Given the description of an element on the screen output the (x, y) to click on. 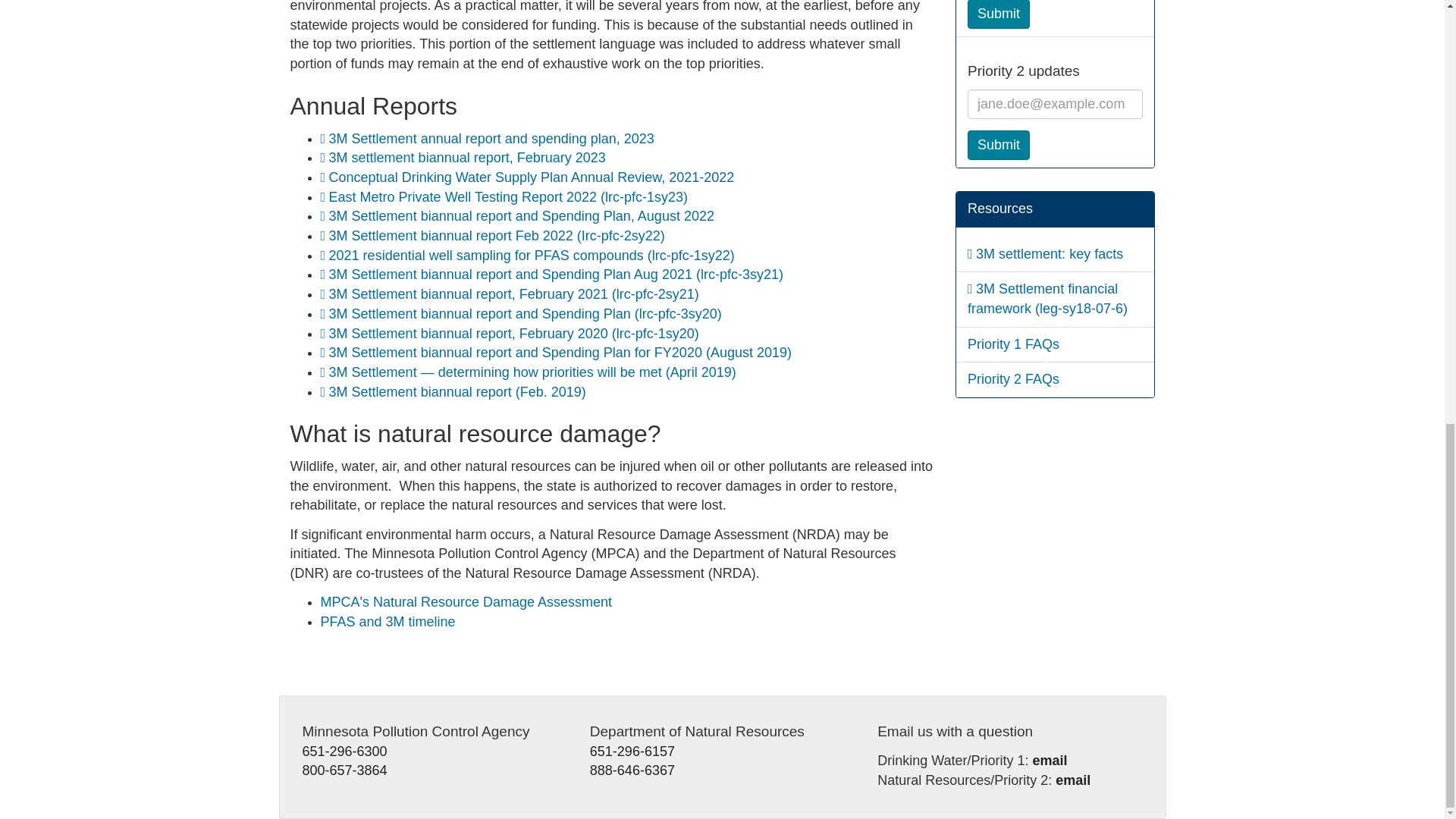
Open file in new window (508, 196)
3M settlement: key facts (1048, 253)
Open file in new window (560, 352)
Open file in new window (532, 255)
MPCA's Natural Resource Damage Assessment (465, 601)
Open file in new window (532, 177)
Open file in new window (491, 138)
Open file in new window (521, 215)
3M settlement biannual report, February 2023 (467, 157)
Open file in new window (457, 391)
PFAS and 3M timeline (387, 621)
Open file in new window (497, 235)
Open file in new window (467, 157)
Submit (998, 145)
Open file in new window (532, 372)
